Given the description of an element on the screen output the (x, y) to click on. 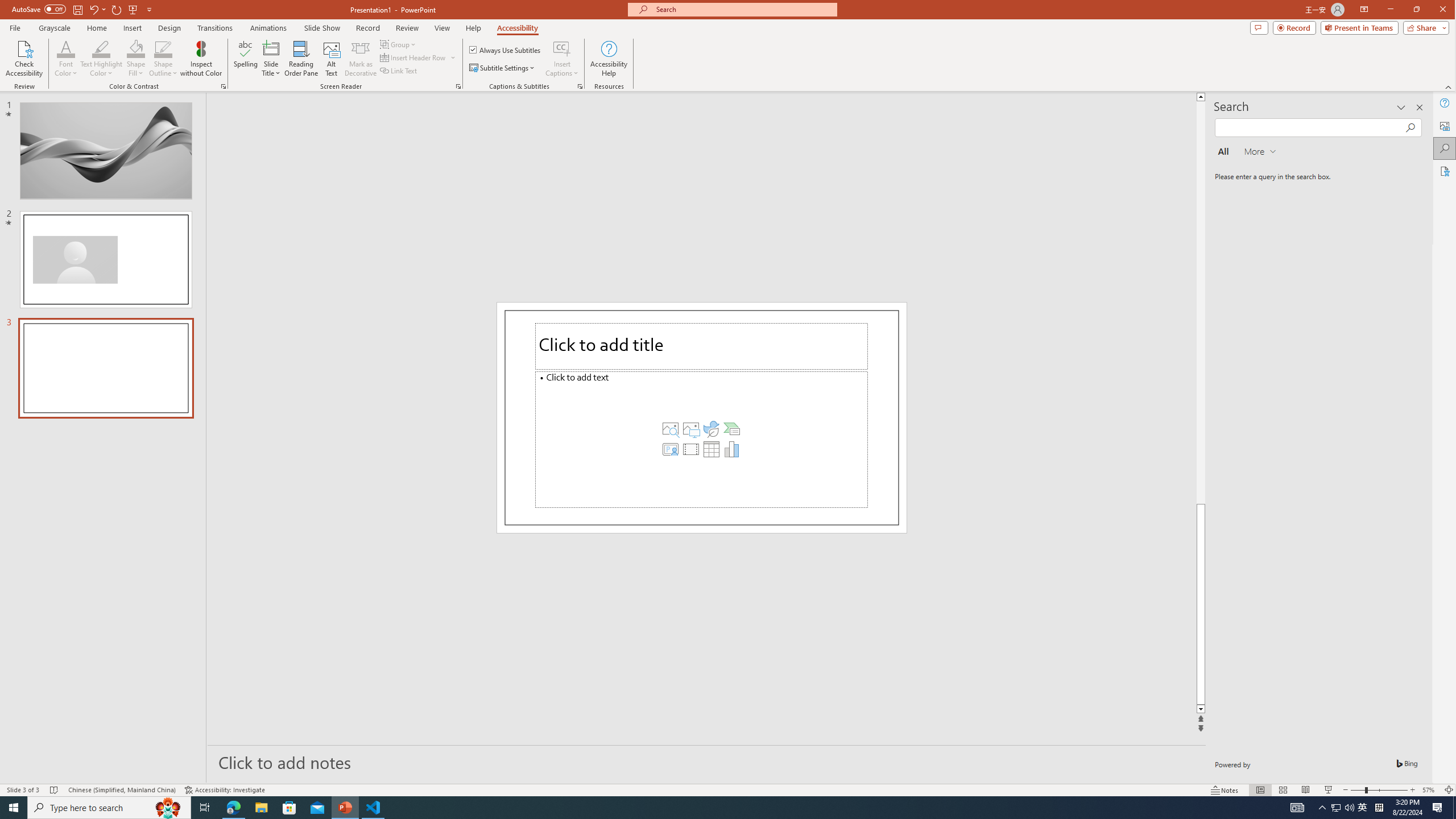
Insert Cameo (669, 448)
Inspect without Color (201, 58)
Slide Title (271, 48)
Captions & Subtitles (580, 85)
